Given the description of an element on the screen output the (x, y) to click on. 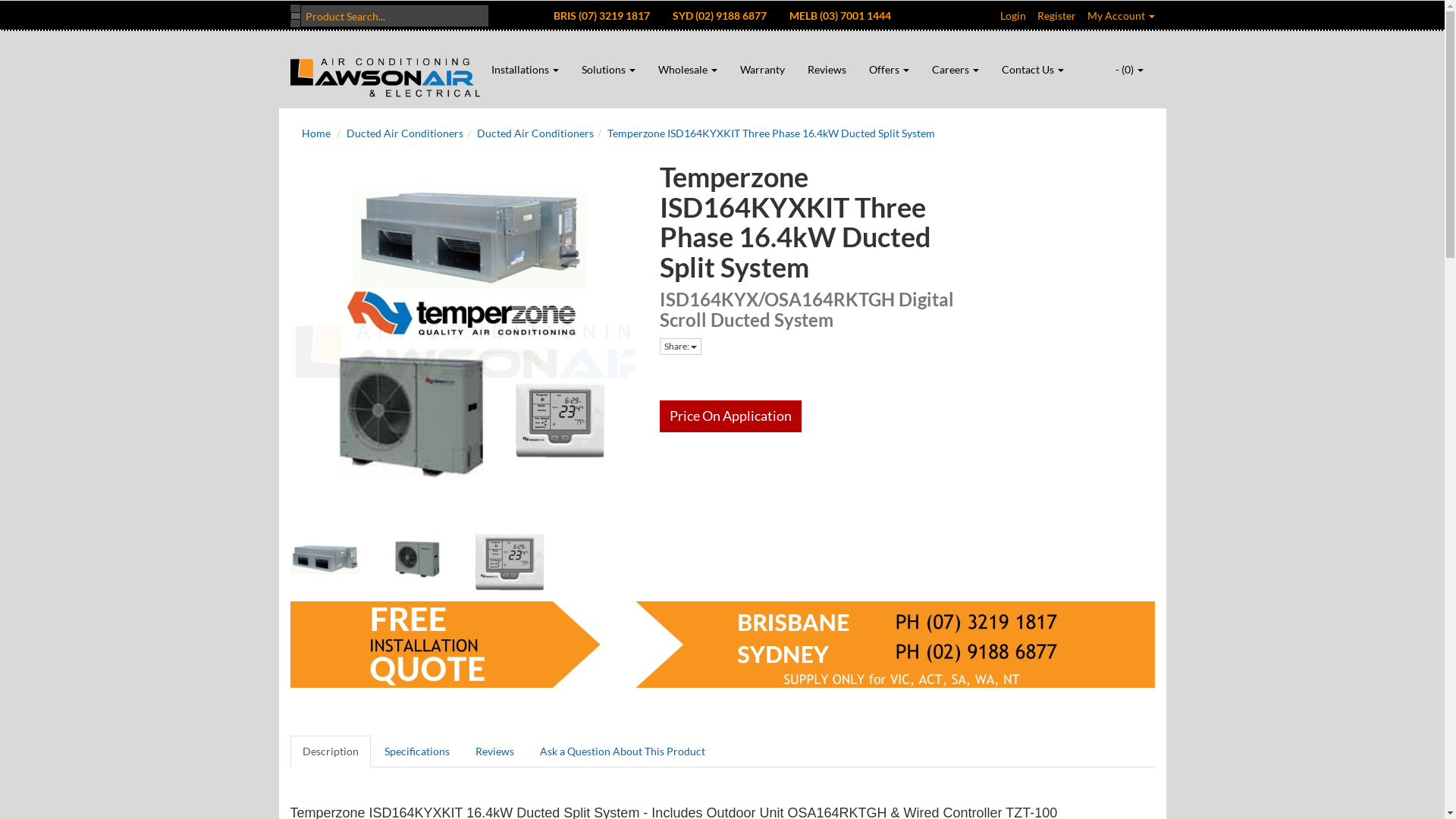
Register Element type: text (1056, 15)
Specifications Element type: text (416, 751)
Offers Element type: text (887, 69)
Share: Element type: text (680, 346)
Search Element type: text (294, 15)
Warranty Element type: text (761, 69)
My Account Element type: text (1120, 15)
Home Element type: text (315, 132)
Login Element type: text (1012, 15)
MELB (03) 7001 1444 Element type: text (840, 15)
- (0) Element type: text (1129, 69)
Ask a Question About This Product Element type: text (622, 751)
Solutions Element type: text (608, 69)
Contact Us Element type: text (1032, 69)
Ducted Air Conditioners Element type: text (534, 132)
Careers Element type: text (955, 69)
BRIS (07) 3219 1817 Element type: text (601, 15)
Large View Element type: hover (509, 559)
Reviews Element type: text (826, 69)
SYD (02) 9188 6877 Element type: text (719, 15)
Reviews Element type: text (493, 751)
Description Element type: text (329, 751)
Large View Element type: hover (416, 559)
Price On Application Element type: text (730, 416)
Large View Element type: hover (324, 559)
Installations Element type: text (524, 69)
Ducted Air Conditioners Element type: text (403, 132)
Wholesale Element type: text (687, 69)
